Given the description of an element on the screen output the (x, y) to click on. 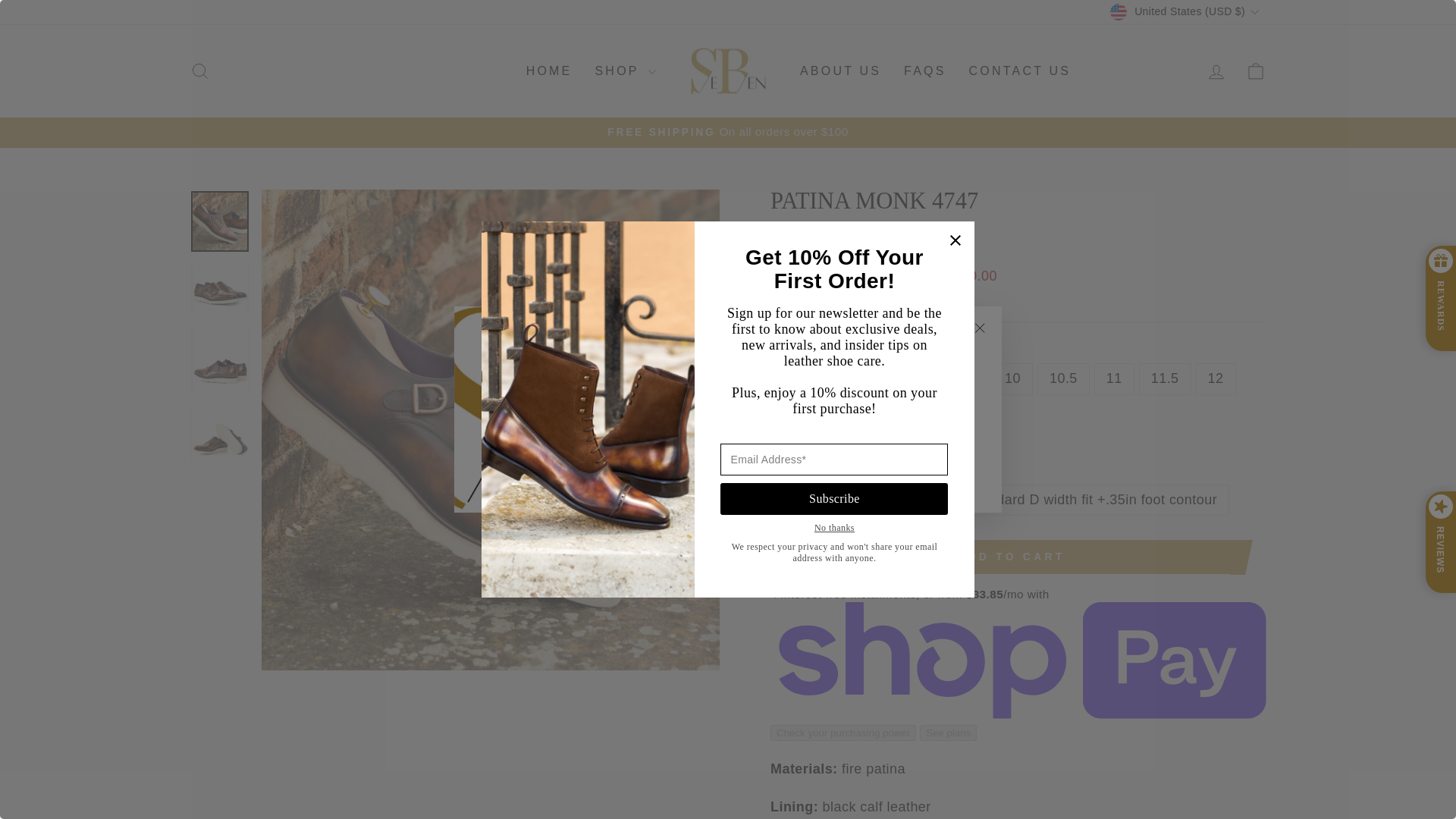
ACCOUNT (1216, 71)
ICON-SEARCH (200, 70)
icon-X (979, 328)
